Given the description of an element on the screen output the (x, y) to click on. 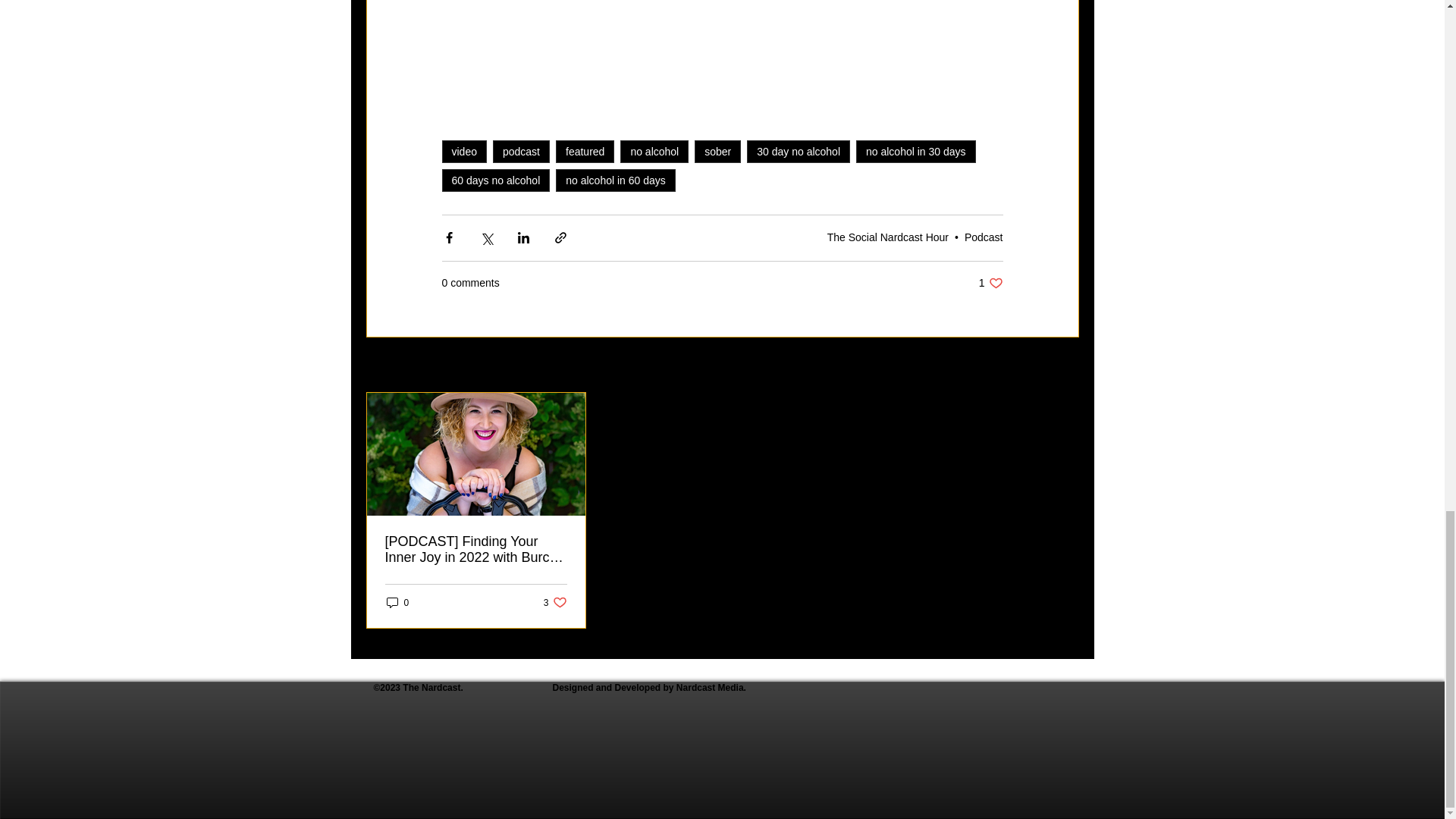
no alcohol (654, 150)
The Social Nardcast Hour (888, 236)
30 day no alcohol (990, 283)
See All (798, 150)
60 days no alcohol (1061, 365)
featured (495, 179)
Podcast (585, 150)
video (983, 236)
sober (463, 150)
